Given the description of an element on the screen output the (x, y) to click on. 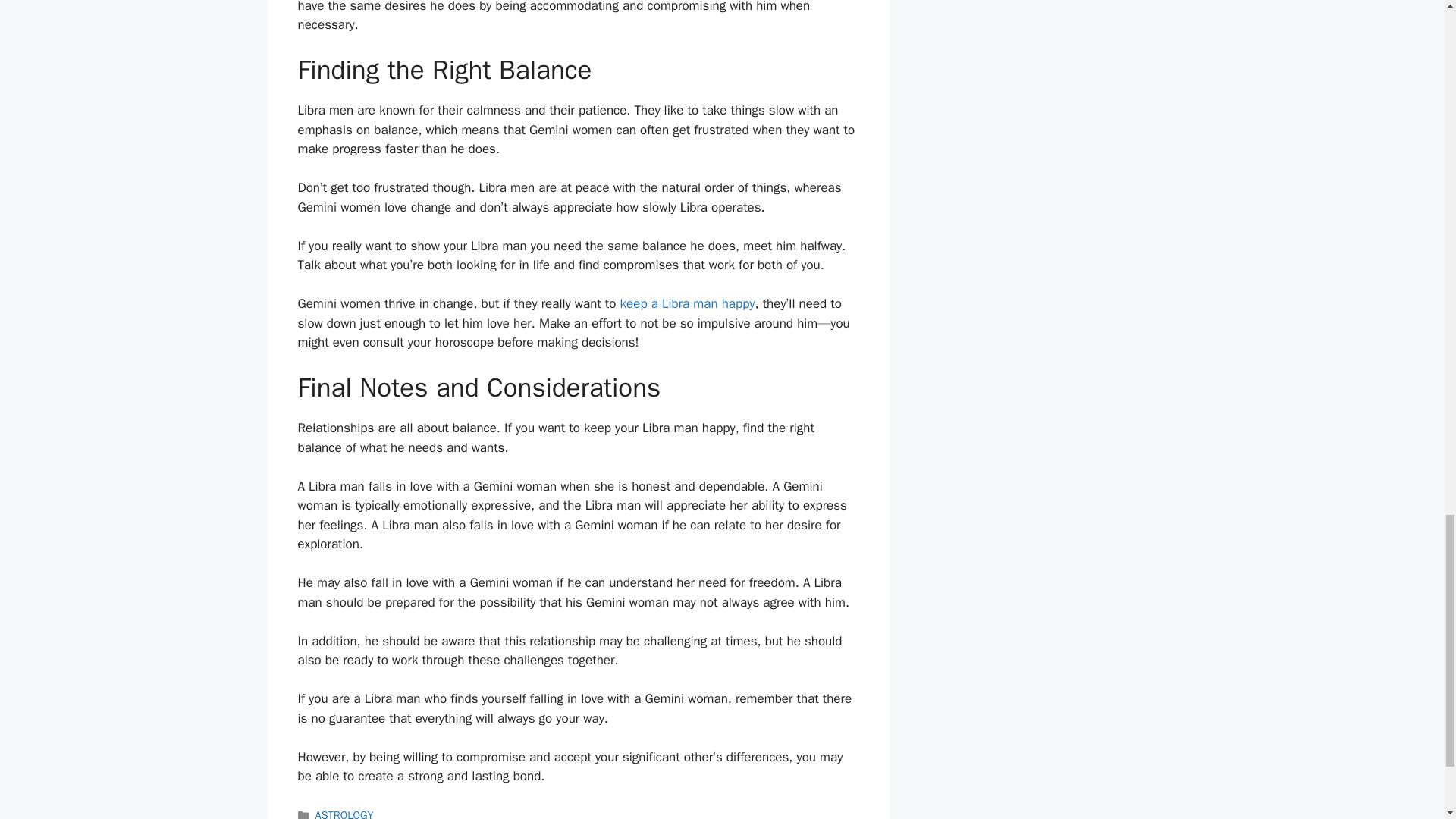
keep a Libra man happy (687, 303)
ASTROLOGY (344, 813)
